Given the description of an element on the screen output the (x, y) to click on. 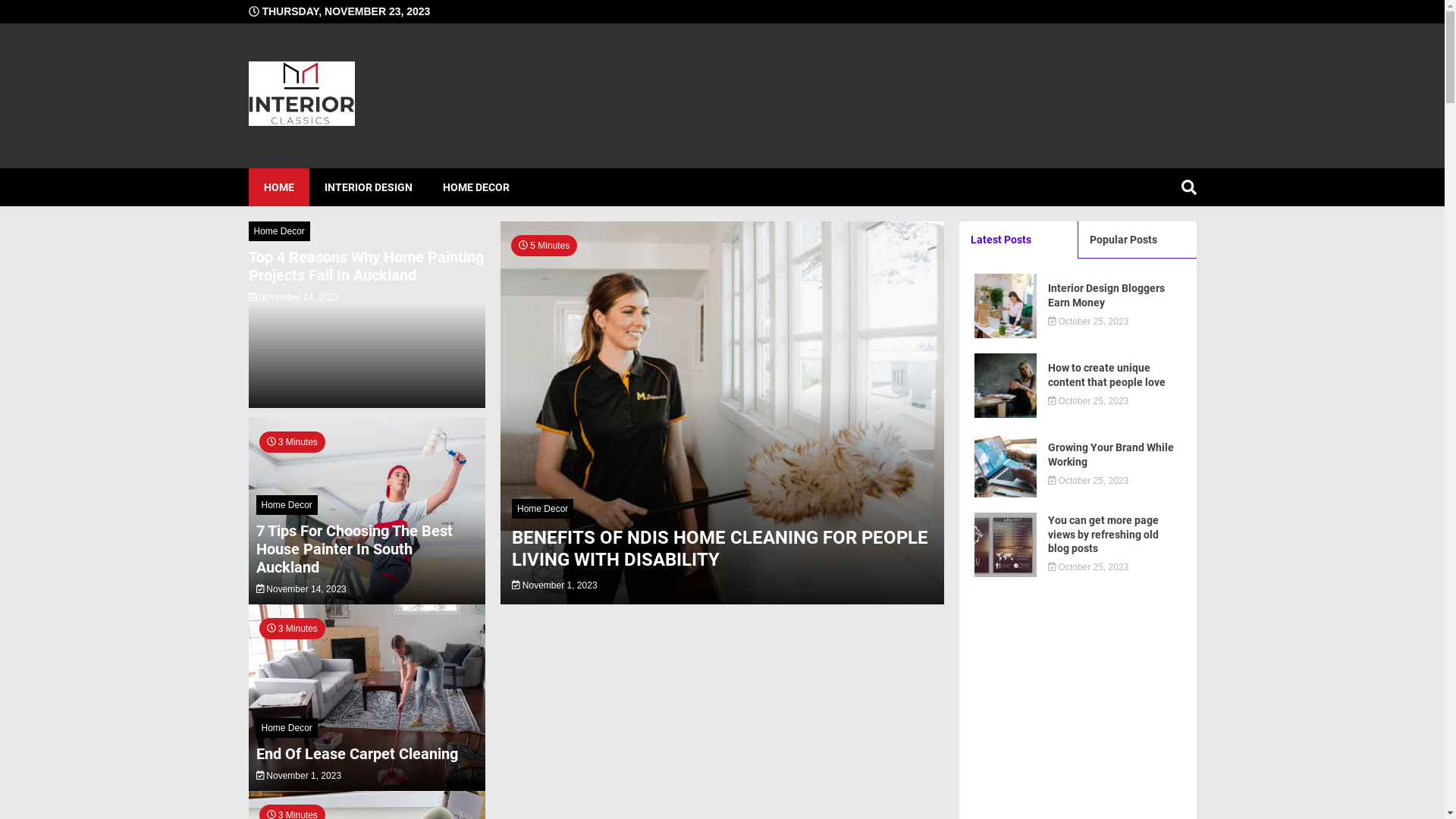
Top 4 Reasons Why Home Painting Projects Fail In Auckland Element type: text (367, 265)
Growing Your Brand While Working Element type: text (1114, 453)
Interior Classics Element type: text (485, 172)
October 25, 2023 Element type: text (1088, 321)
HOME Element type: text (278, 187)
7 Tips For Choosing The Best House Painter In South Auckland Element type: text (367, 548)
Home Decor Element type: text (286, 504)
November 1, 2023 Element type: text (555, 585)
HOME DECOR Element type: text (475, 187)
Home Decor Element type: text (286, 727)
Home Decor Element type: text (549, 508)
You can get more page views by refreshing old blog posts Element type: text (1114, 534)
November 14, 2023 Element type: text (301, 588)
5 Minutes Element type: text (736, 413)
3 Minutes Element type: text (367, 787)
November 14, 2023 Element type: text (293, 296)
October 25, 2023 Element type: text (1088, 566)
End Of Lease Carpet Cleaning Element type: text (357, 753)
October 25, 2023 Element type: text (1088, 480)
Interior Design Bloggers Earn Money Element type: text (1114, 294)
INTERIOR DESIGN Element type: text (368, 187)
Home Decor Element type: text (279, 231)
3 Minutes Element type: text (367, 600)
October 25, 2023 Element type: text (1088, 400)
How to create unique content that people love Element type: text (1114, 374)
November 1, 2023 Element type: text (299, 775)
